Given the description of an element on the screen output the (x, y) to click on. 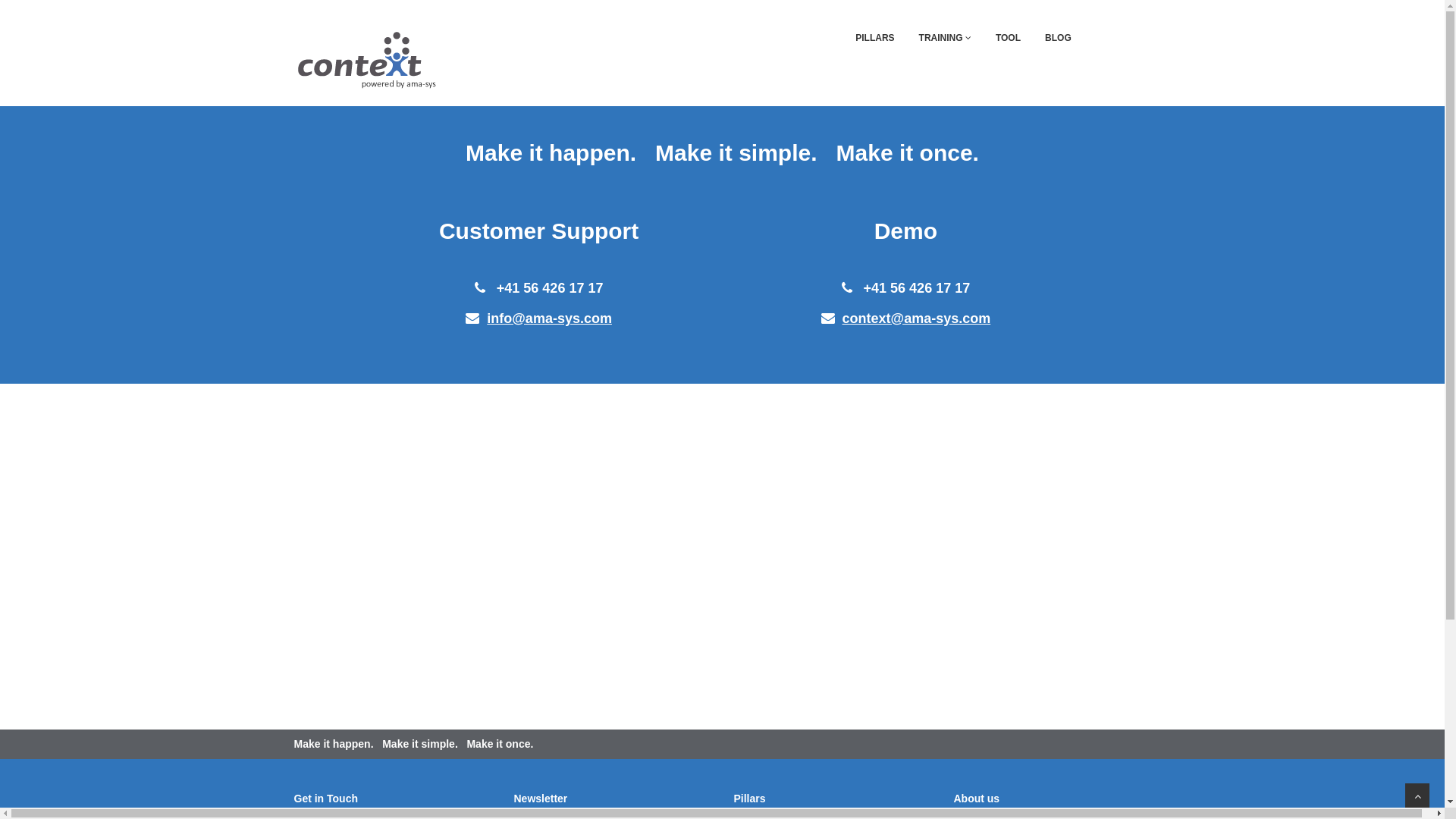
TOOL Element type: text (1008, 37)
Make it happen.   Make it simple.   Make it once. Element type: text (722, 152)
Make it happen.   Make it simple.   Make it once. Element type: text (413, 743)
CONTACT Element type: text (1117, 37)
info@ama-sys.com Element type: text (548, 318)
PILLARS Element type: text (874, 37)
context@ama-sys.com Element type: text (916, 318)
BLOG Element type: text (1057, 37)
TRAINING Element type: text (944, 37)
